Given the description of an element on the screen output the (x, y) to click on. 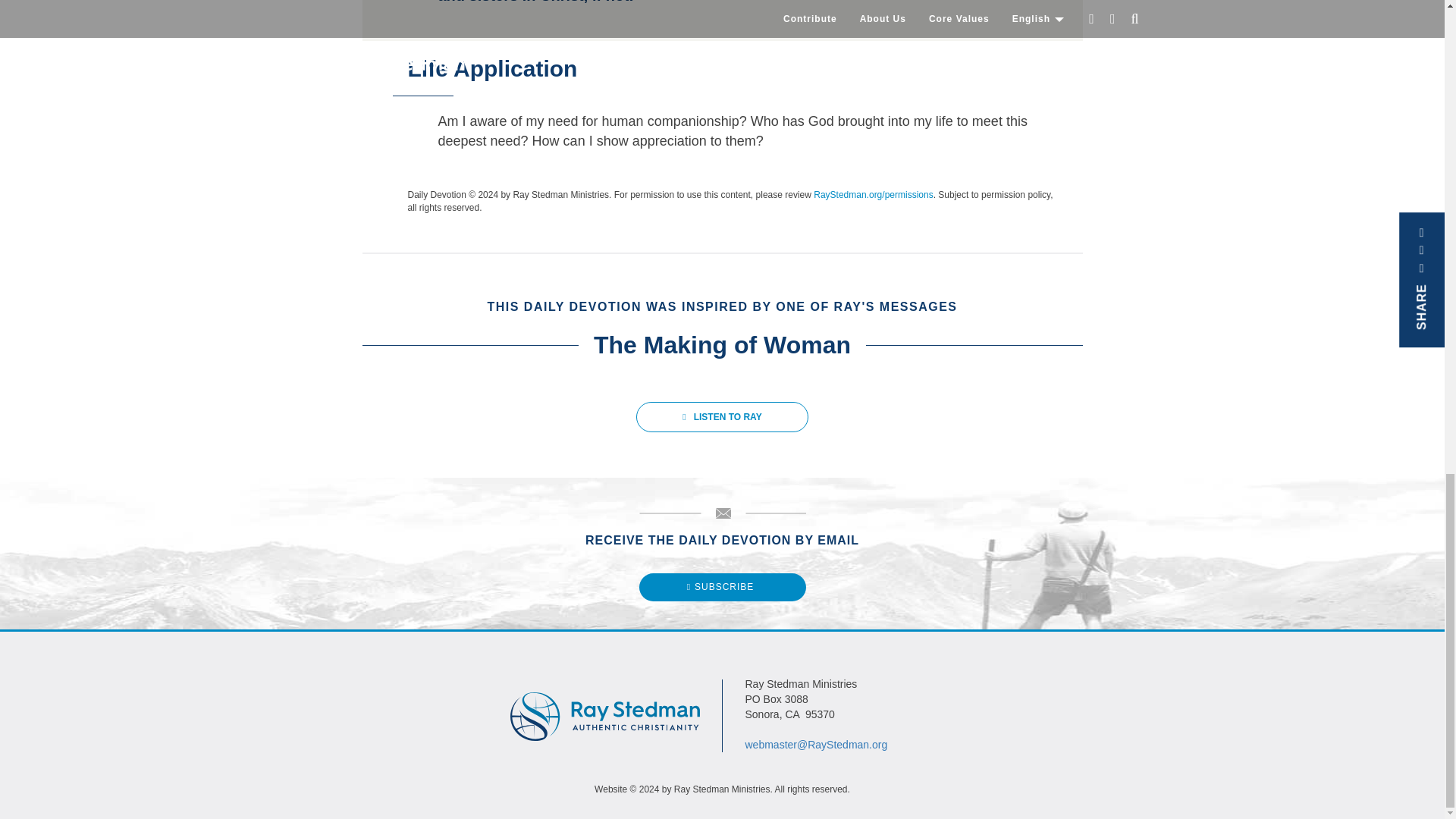
SUBSCRIBE (722, 587)
LISTEN TO RAY (722, 417)
Home (603, 707)
